Given the description of an element on the screen output the (x, y) to click on. 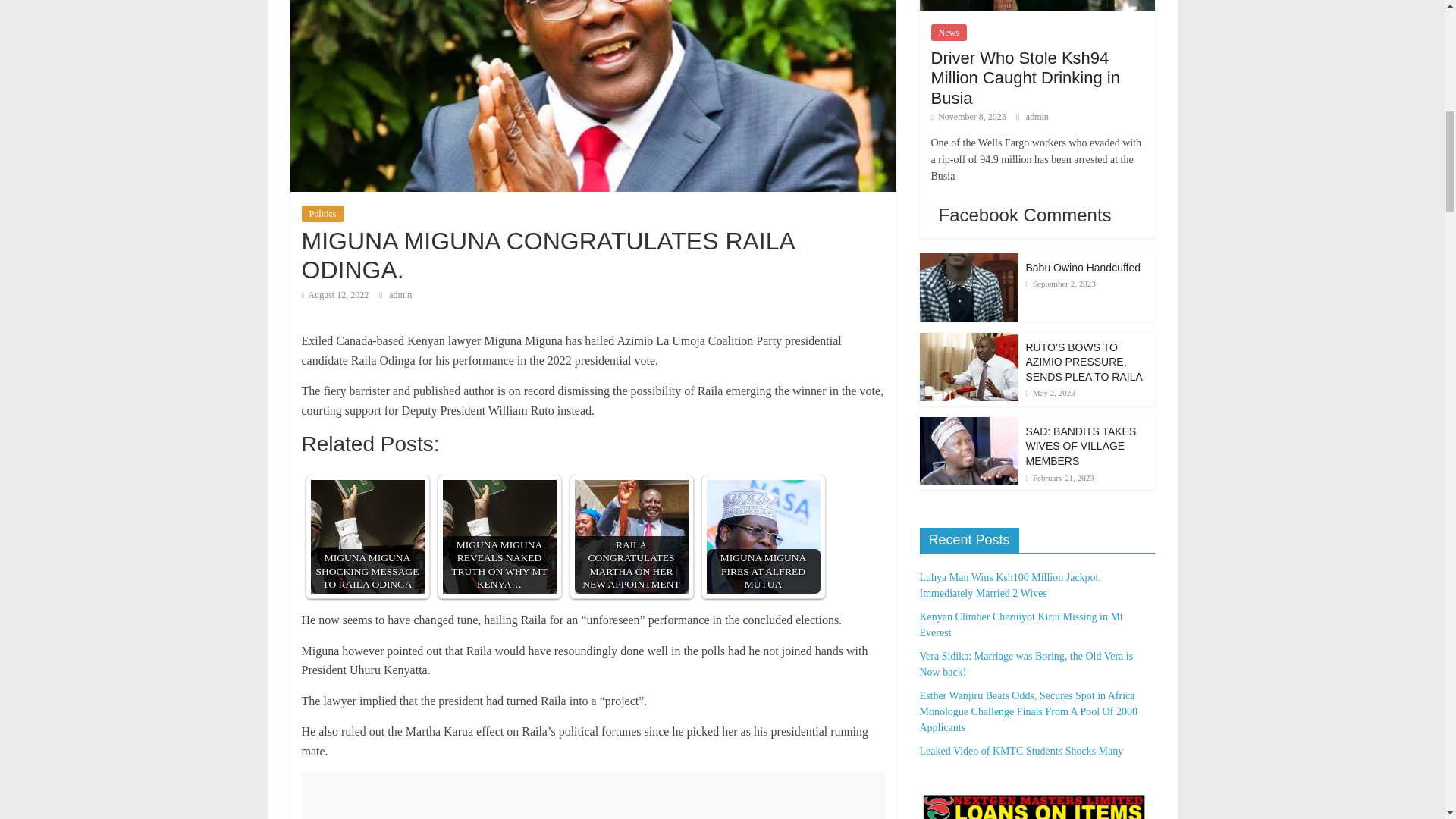
MIGUNA MIGUNA SHOCKING MESSAGE TO RAILA ODINGA (368, 536)
5:07 am (335, 294)
admin (400, 294)
admin (400, 294)
RAILA CONGRATULATES MARTHA ON HER NEW APPOINTMENT (631, 536)
August 12, 2022 (335, 294)
MIGUNA MIGUNA FIRES AT ALFRED MUTUA (763, 536)
MIGUNA MIGUNA SHOCKING MESSAGE TO RAILA ODINGA (368, 536)
Politics (322, 213)
